Given the description of an element on the screen output the (x, y) to click on. 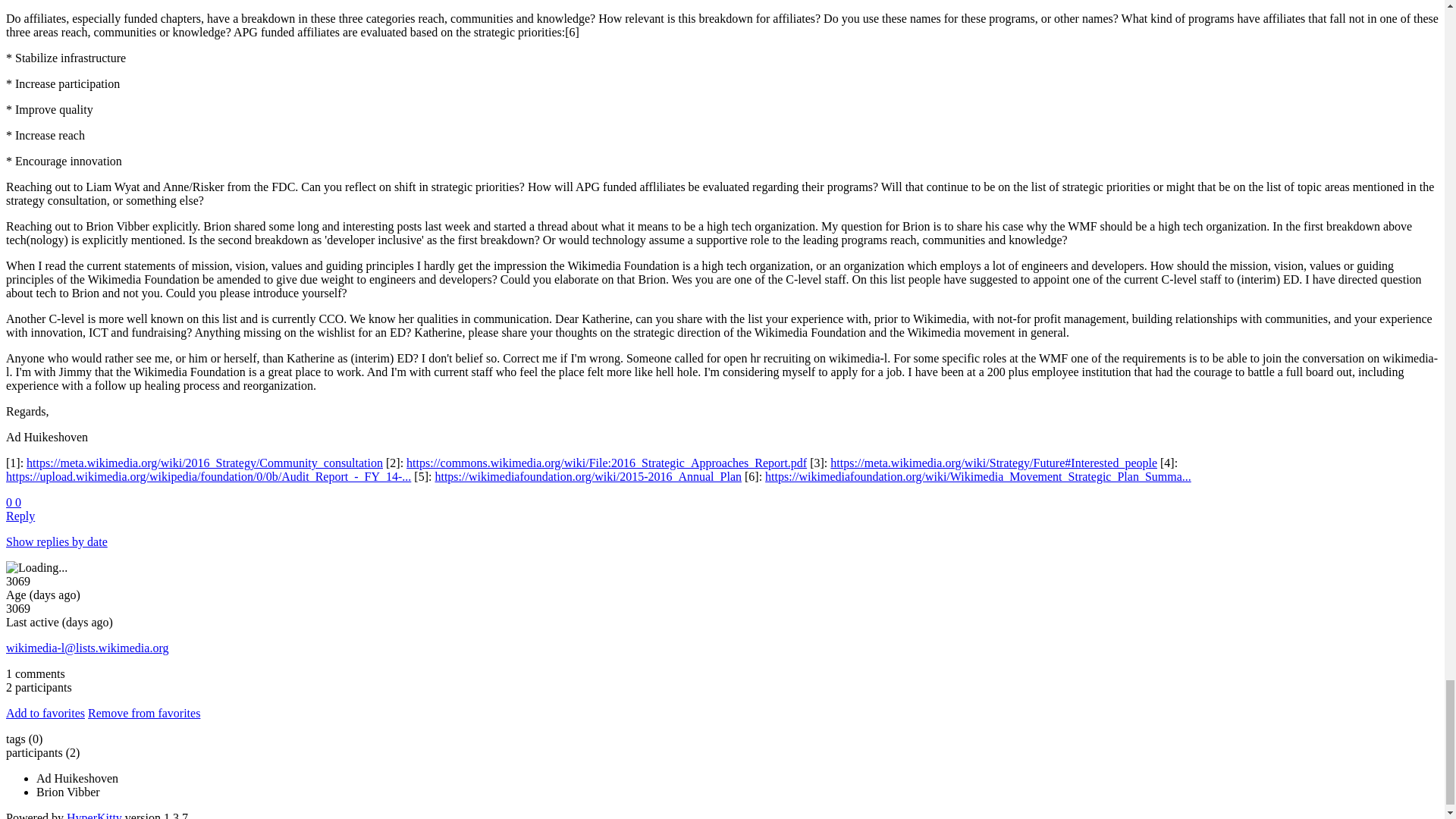
You must be logged-in to have favorites. (44, 712)
You must be logged-in to vote. (17, 502)
Sign in to reply online (19, 515)
You must be logged-in to vote. (9, 502)
